Given the description of an element on the screen output the (x, y) to click on. 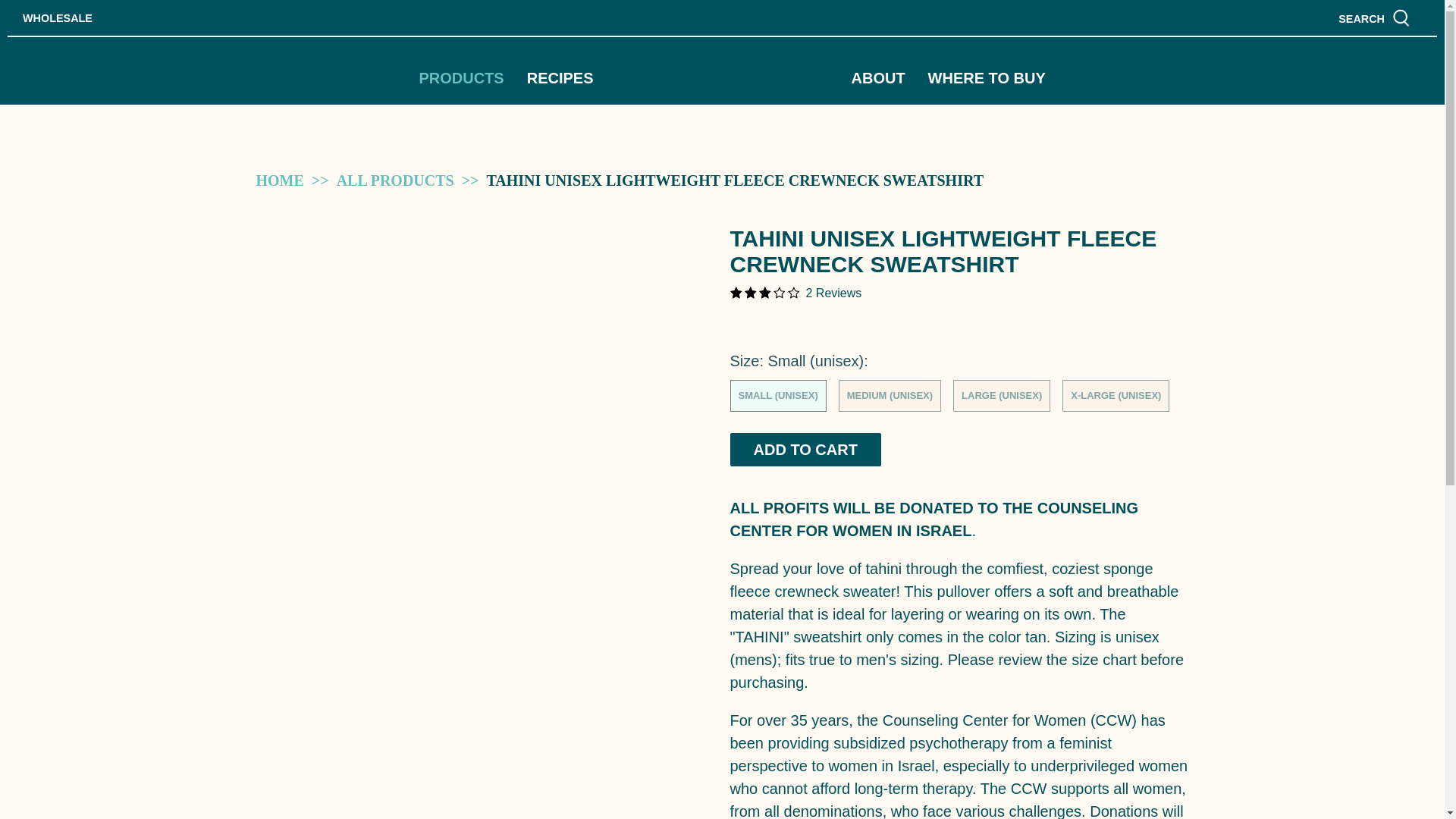
PRODUCTS (461, 77)
ABOUT (878, 77)
SEARCH (1374, 17)
All Products (395, 180)
Soom Foods (280, 180)
WHOLESALE (58, 18)
RECIPES (560, 77)
WHERE TO BUY (987, 77)
Soom Foods (721, 74)
